Given the description of an element on the screen output the (x, y) to click on. 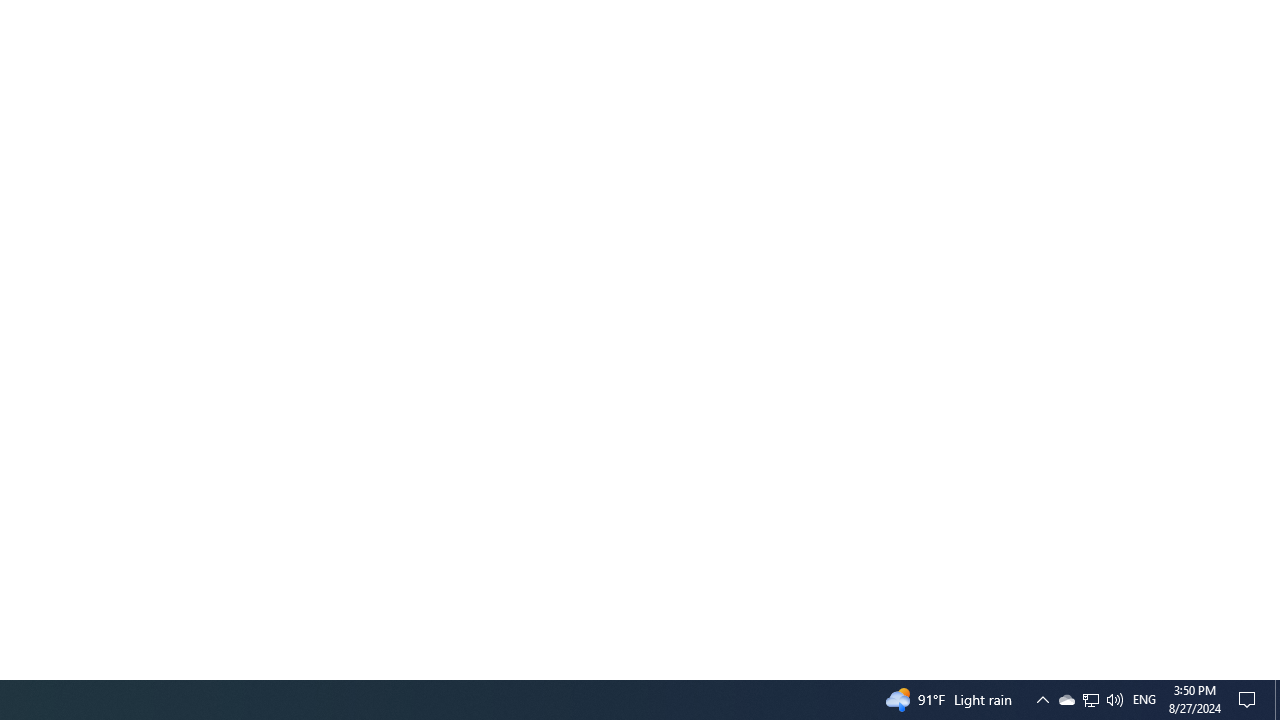
Tray Input Indicator - English (United States) (1144, 699)
